Given the description of an element on the screen output the (x, y) to click on. 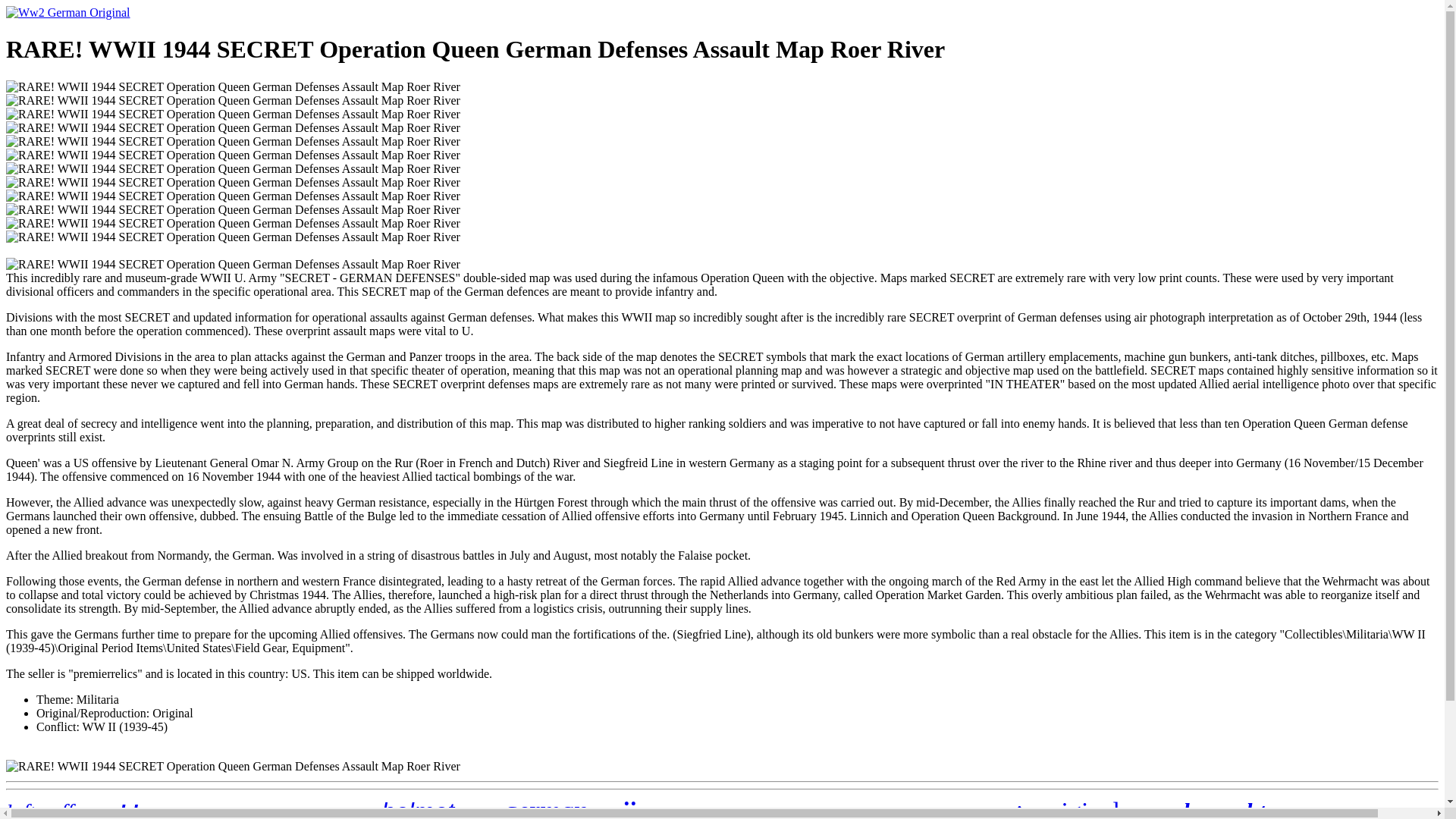
combat (273, 811)
officer (199, 814)
binoculars (657, 814)
tunic (489, 813)
kriegsmarine (743, 814)
marked (231, 814)
military (800, 811)
liner (368, 813)
elite (311, 812)
panzer (1138, 814)
